Given the description of an element on the screen output the (x, y) to click on. 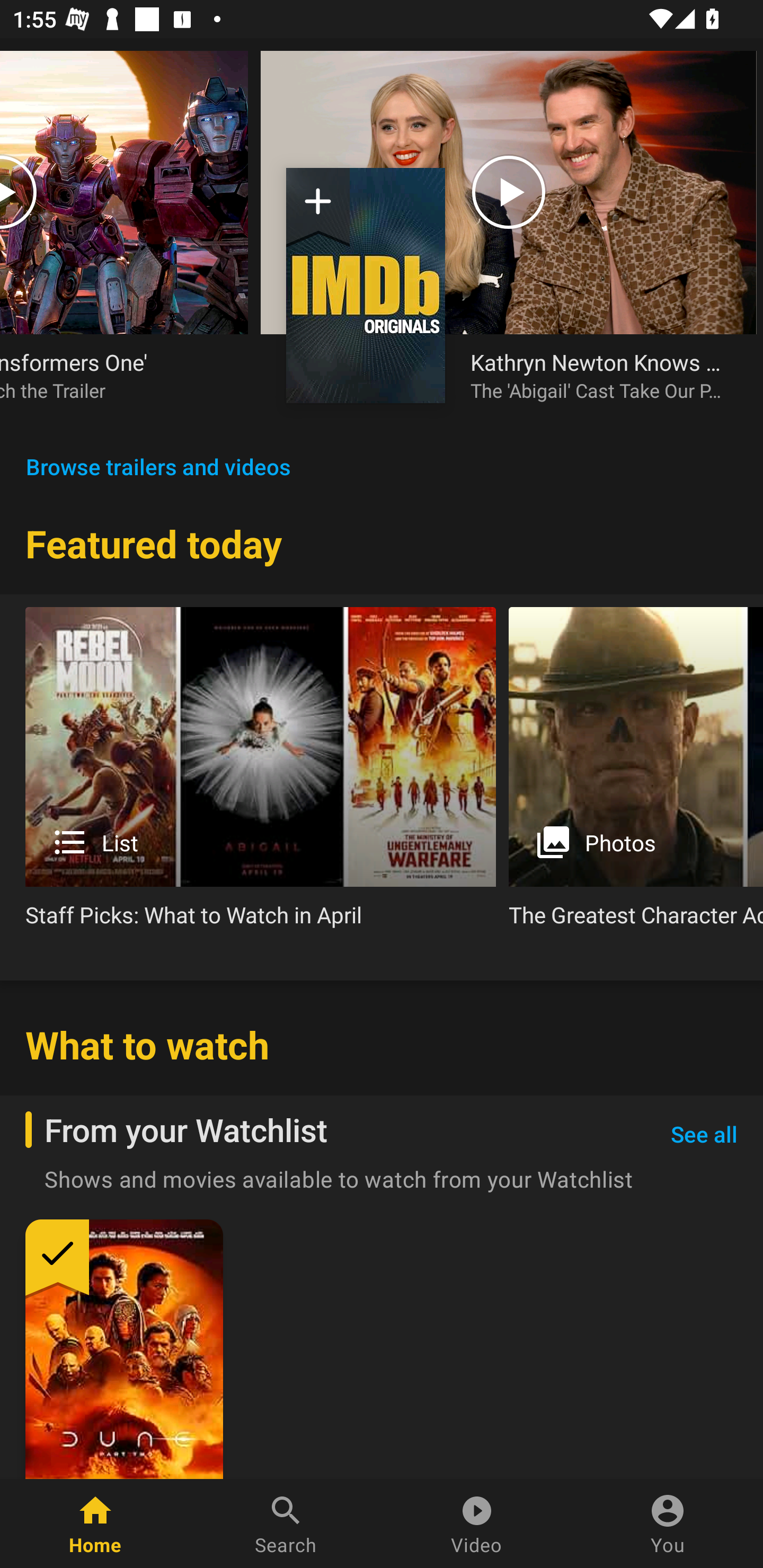
Not in watchlist (365, 284)
Not in watchlist (317, 207)
List Staff Picks: What to Watch in April (260, 774)
Photos The Greatest Character Actors of All Time (635, 774)
See all See all From your Watchlist (703, 1134)
Search (285, 1523)
Video (476, 1523)
You (667, 1523)
